Given the description of an element on the screen output the (x, y) to click on. 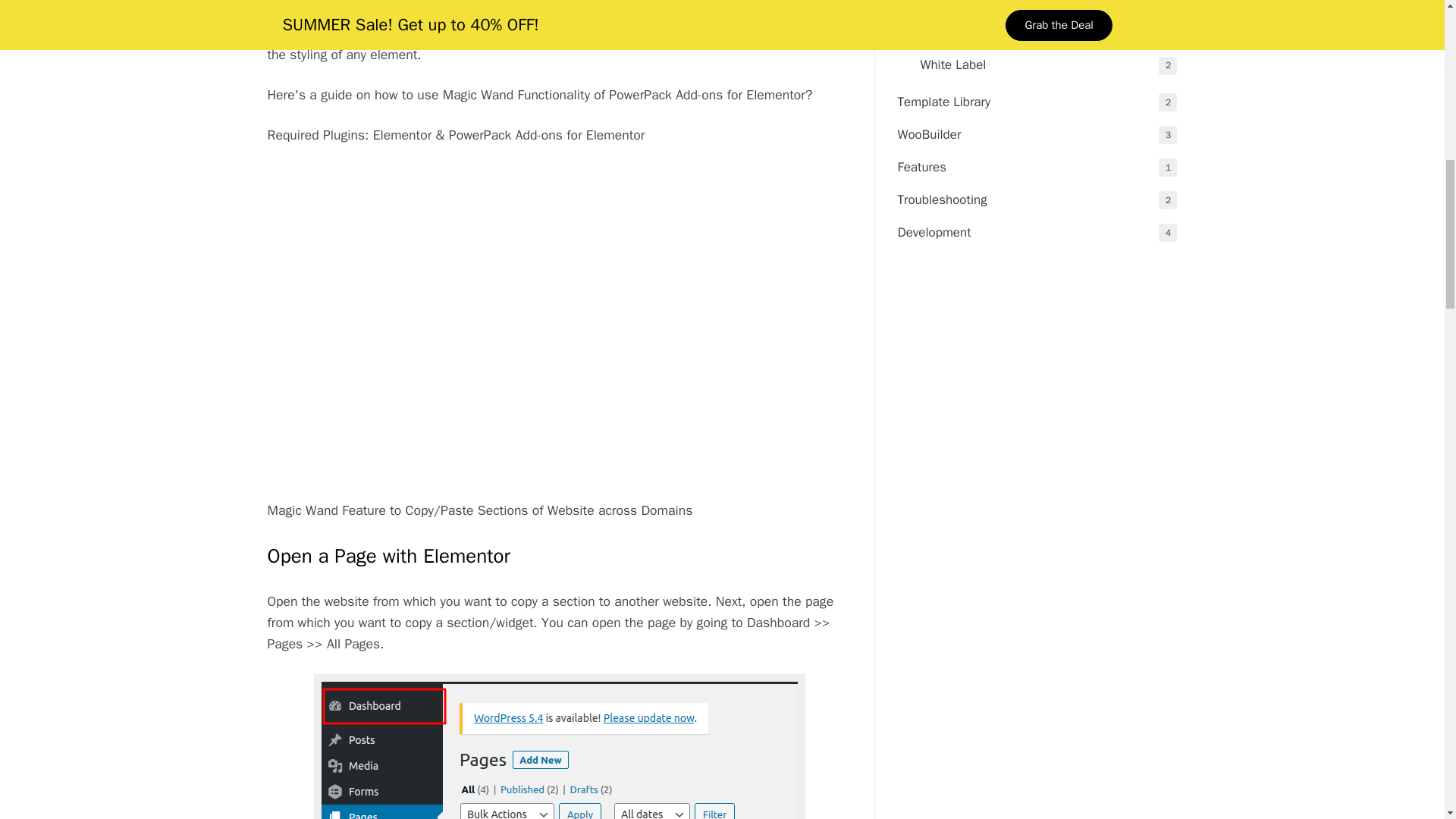
Scroll back to top (1406, 720)
Open a Page (559, 746)
